Given the description of an element on the screen output the (x, y) to click on. 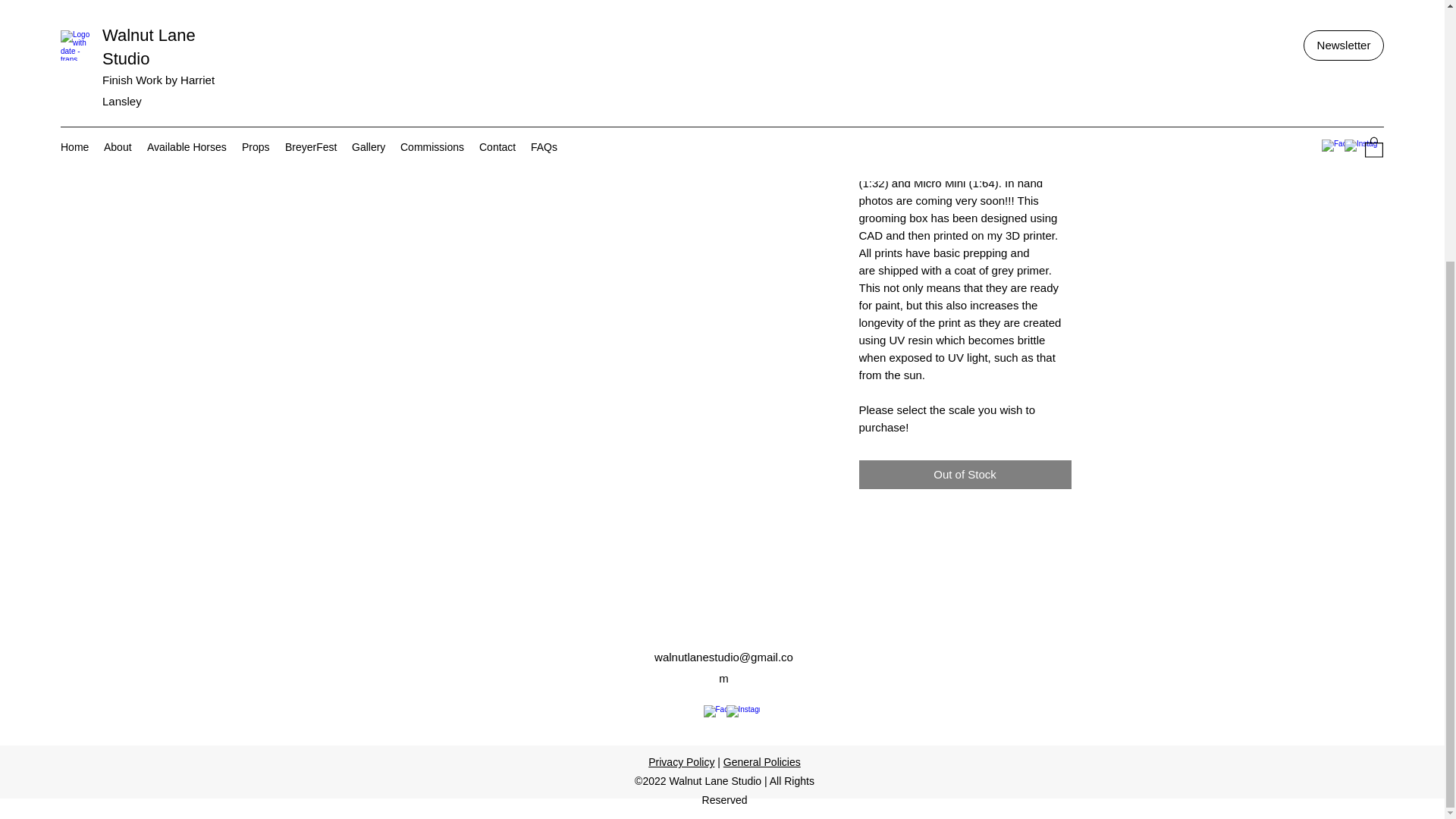
Privacy Policy (680, 761)
Out of Stock (964, 474)
General Policies (761, 761)
